Given the description of an element on the screen output the (x, y) to click on. 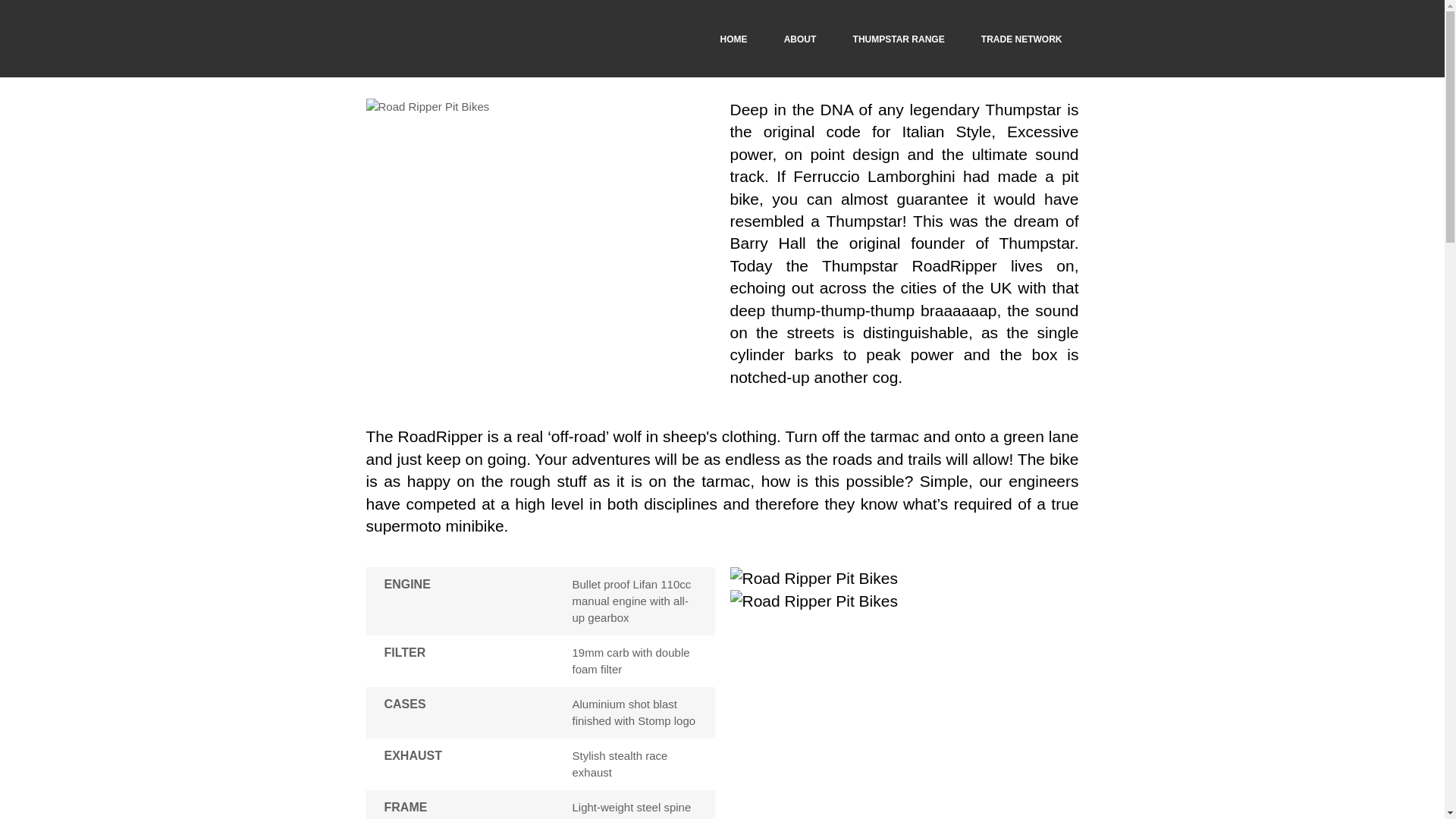
HOME (734, 39)
ABOUT (800, 39)
TRADE NETWORK (1021, 39)
THUMPSTAR RANGE (898, 39)
